Given the description of an element on the screen output the (x, y) to click on. 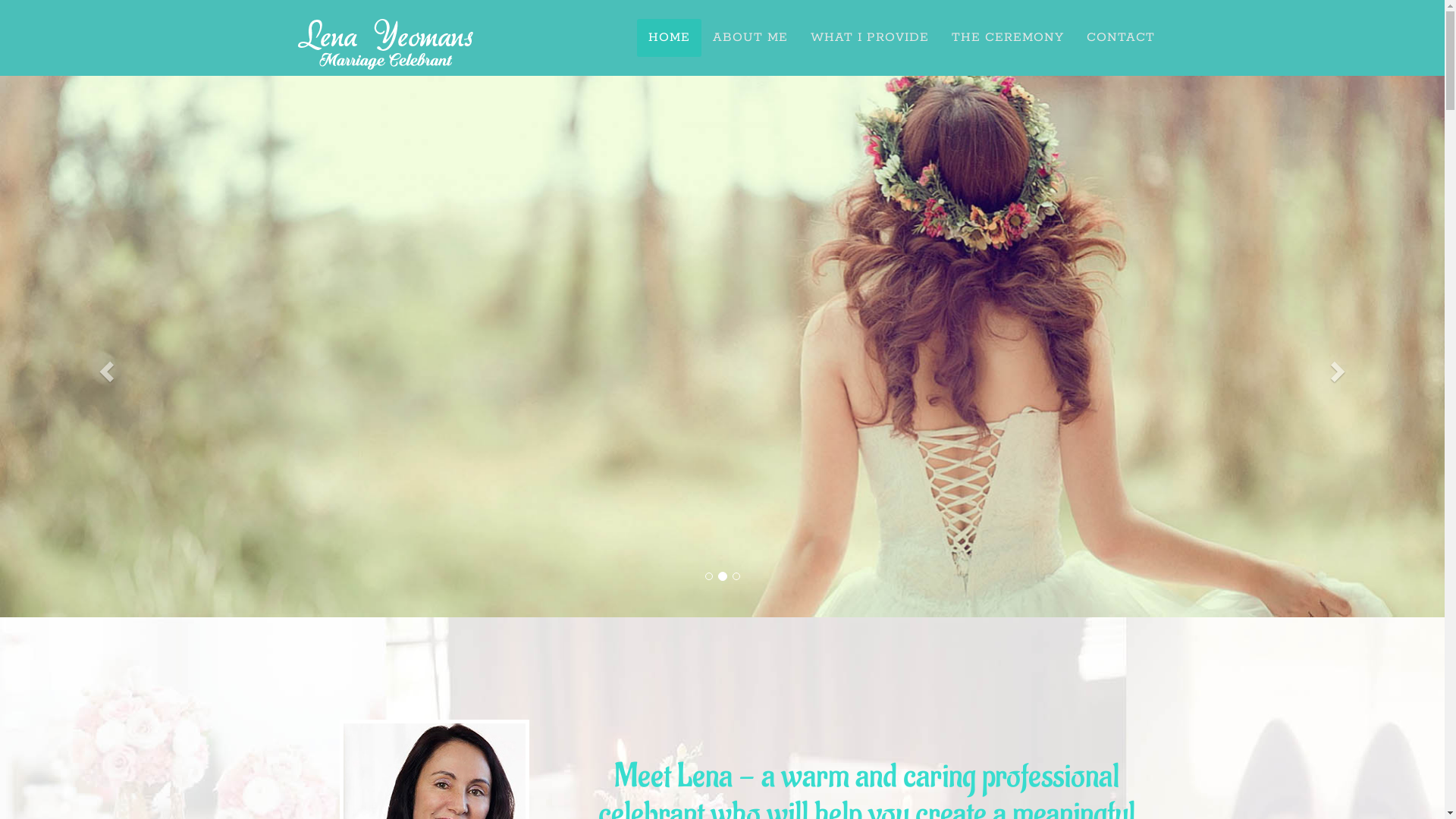
ABOUT ME Element type: text (749, 37)
Previous Element type: text (108, 308)
WHAT I PROVIDE Element type: text (869, 37)
Next Element type: text (1335, 308)
CONTACT Element type: text (1120, 37)
HOME Element type: text (669, 37)
THE CEREMONY Element type: text (1007, 37)
